Given the description of an element on the screen output the (x, y) to click on. 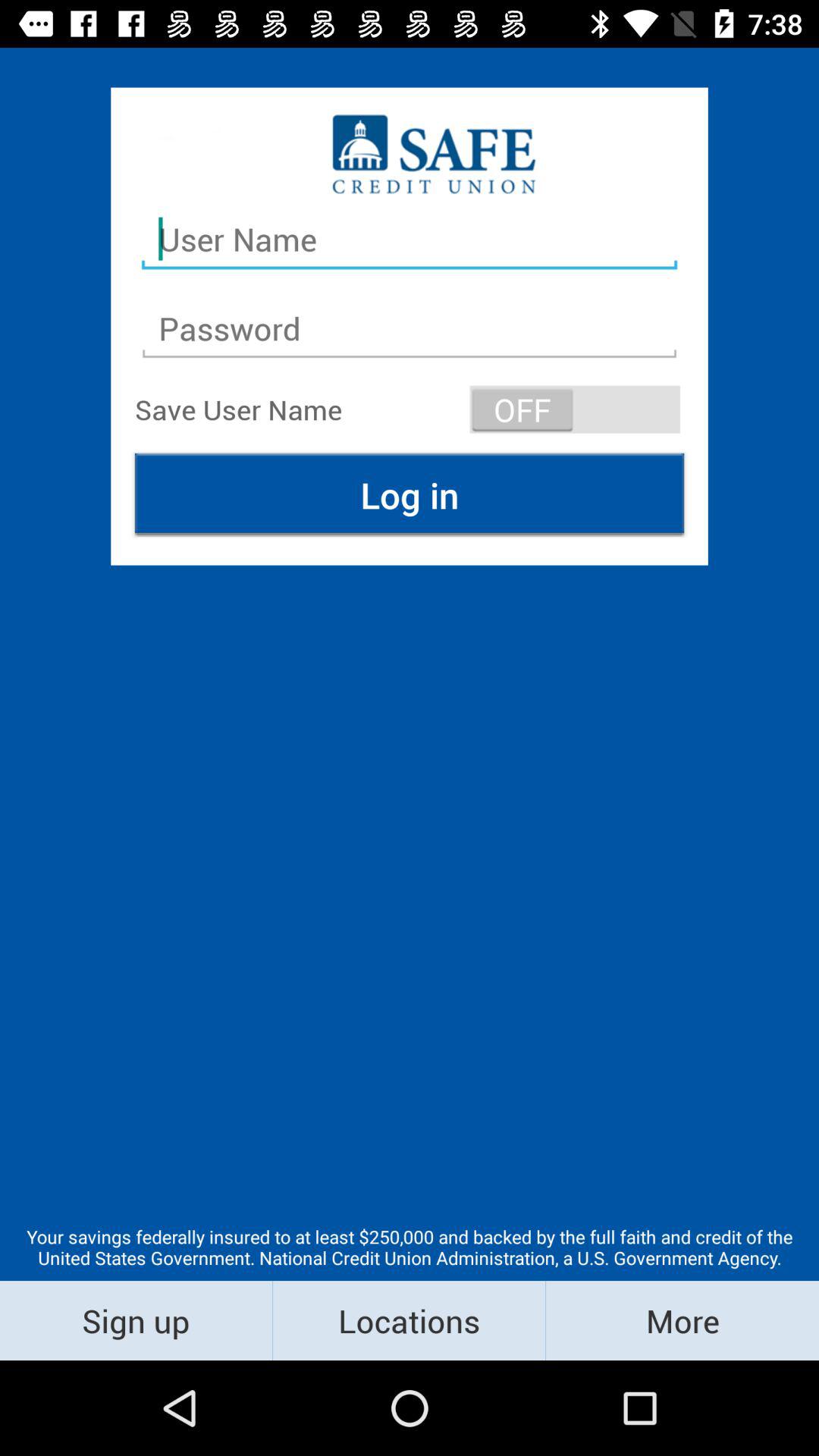
turn on the item next to sign up (409, 1320)
